Given the description of an element on the screen output the (x, y) to click on. 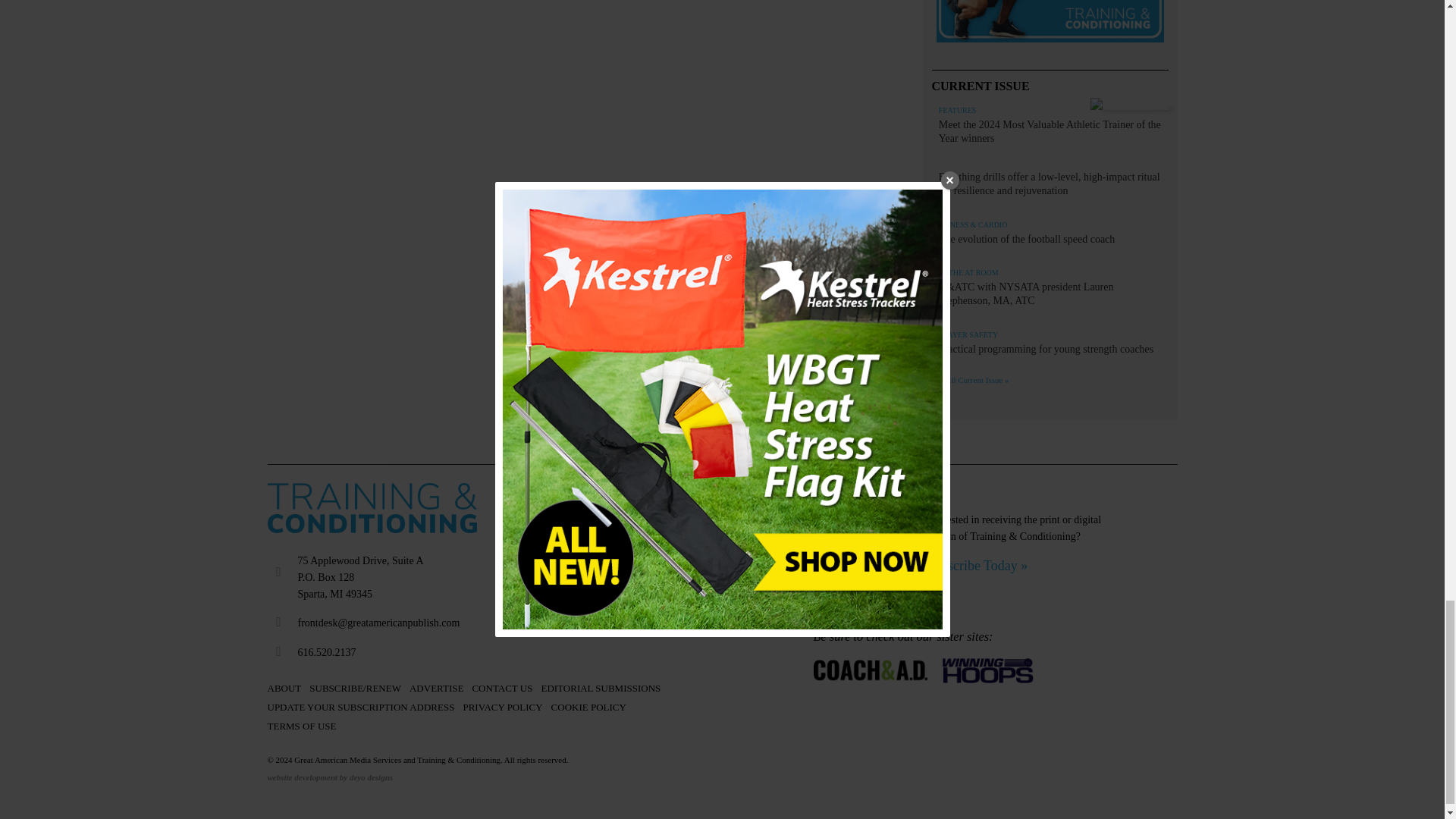
Survey  (1049, 23)
